Given the description of an element on the screen output the (x, y) to click on. 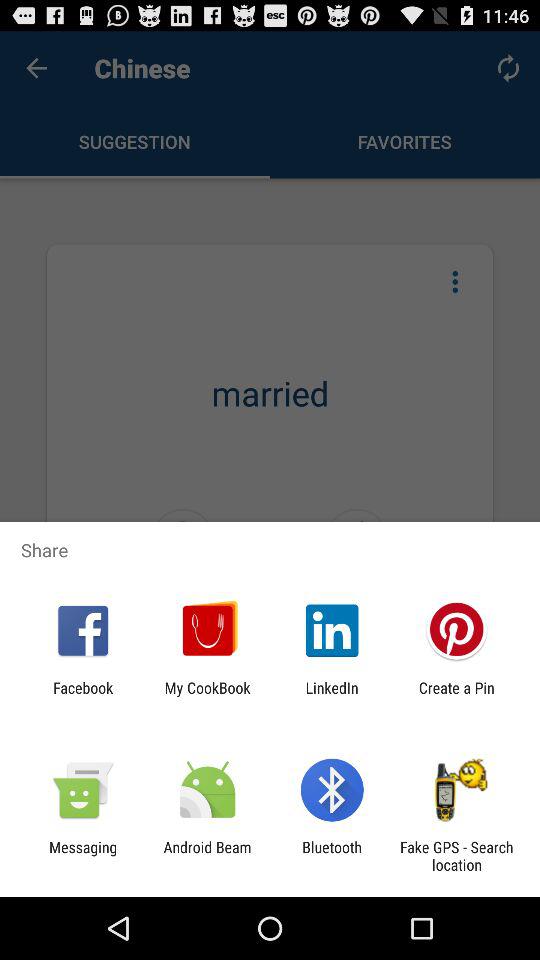
select icon to the right of the my cookbook app (331, 696)
